Given the description of an element on the screen output the (x, y) to click on. 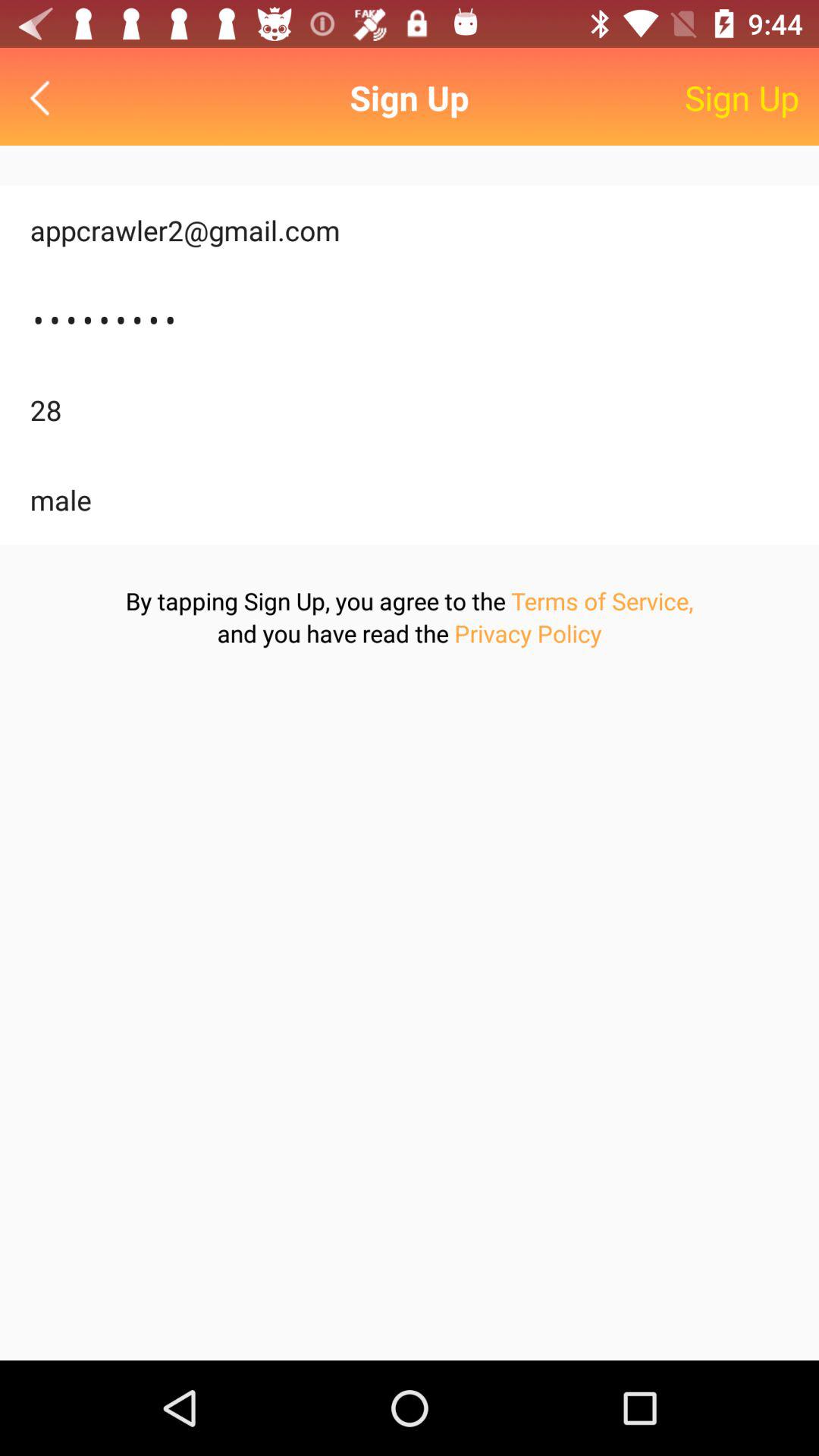
back button (43, 97)
